Given the description of an element on the screen output the (x, y) to click on. 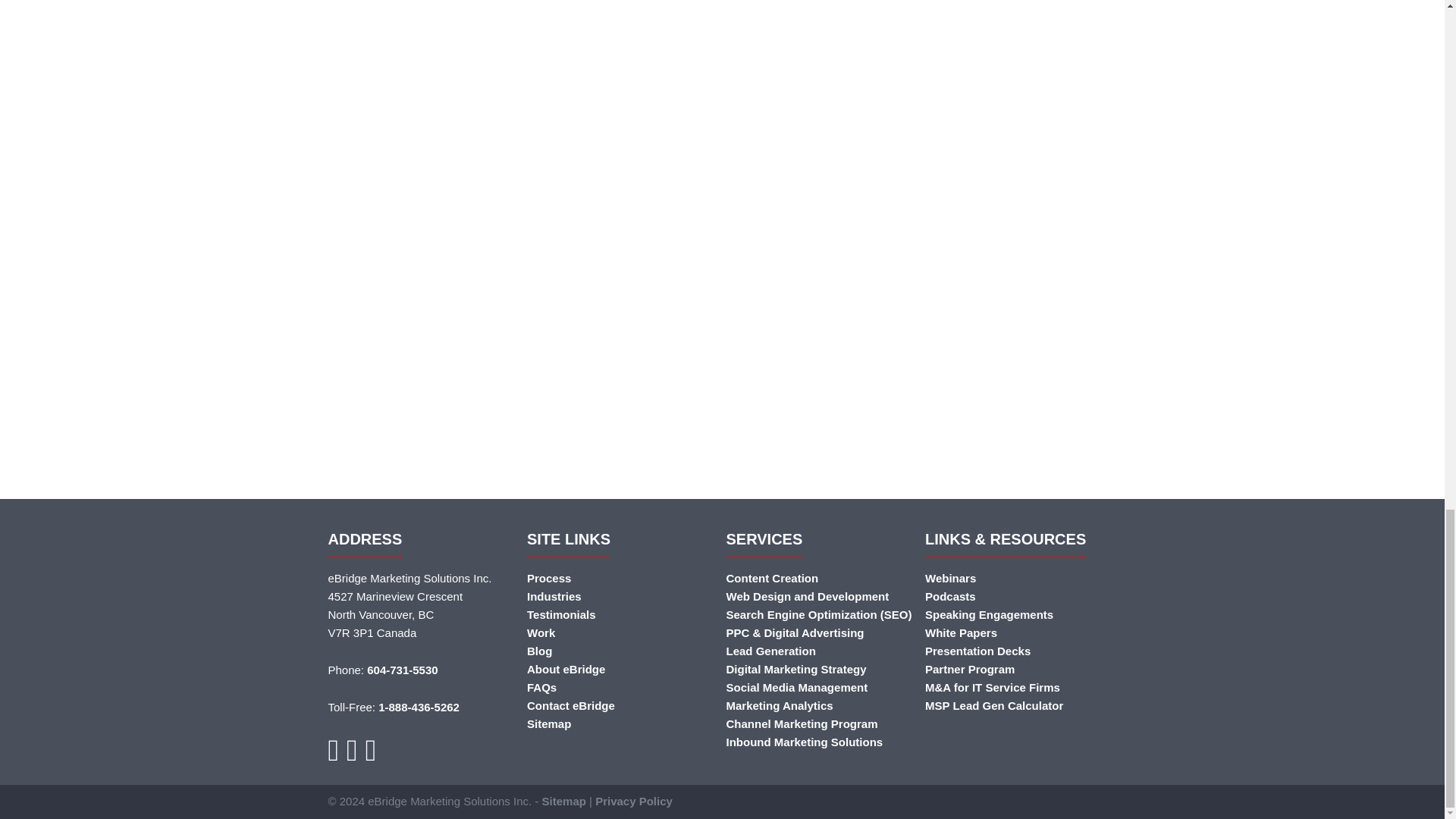
1-888-436-5262 (419, 707)
604-731-5530 (402, 669)
